Given the description of an element on the screen output the (x, y) to click on. 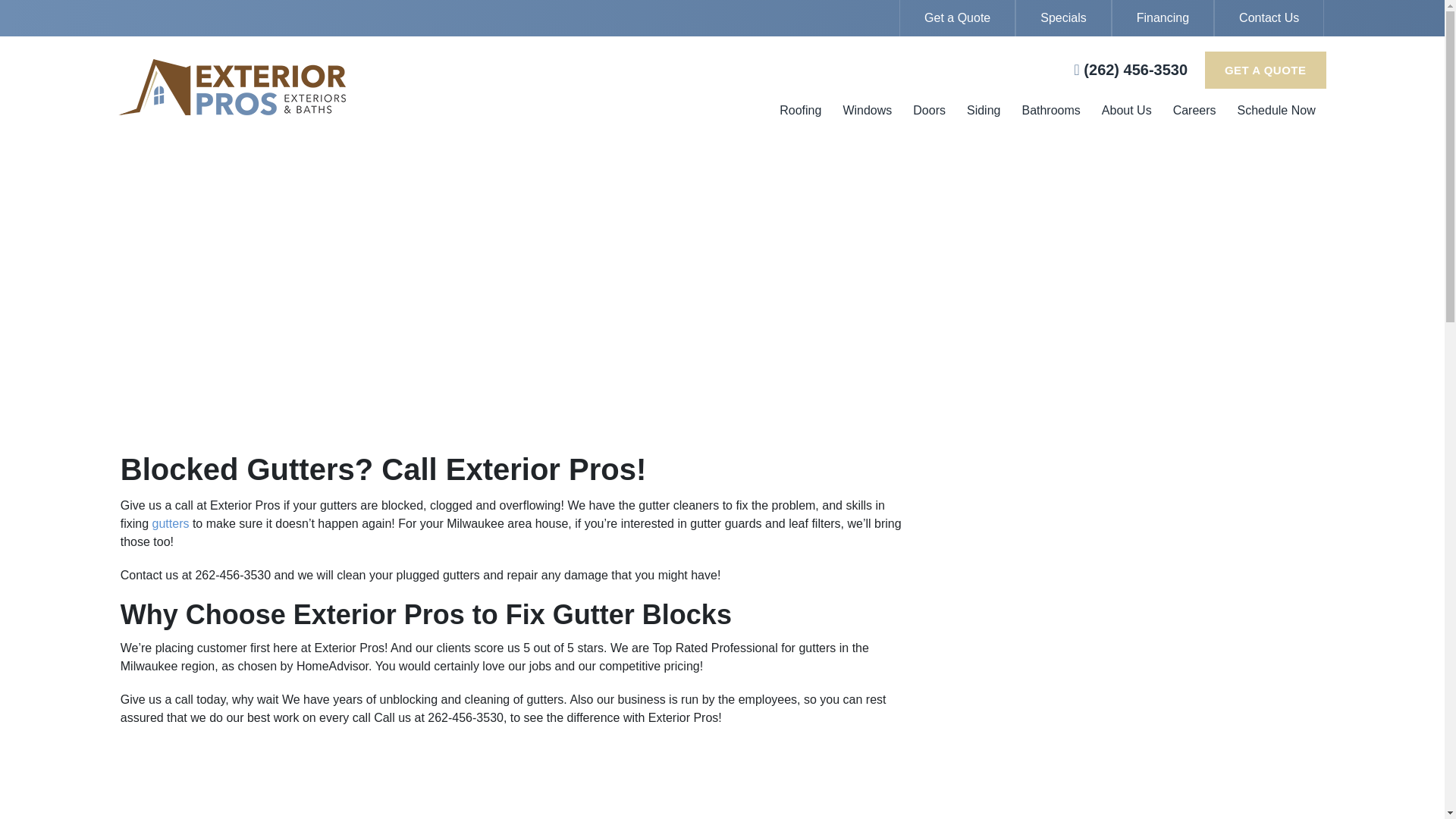
Exterior Pros (319, 86)
Specials (1062, 18)
Get a Quote (956, 18)
GET A QUOTE (1265, 69)
Roofing (799, 112)
Windows (867, 112)
Financing (1163, 18)
Bathrooms (1051, 112)
Doors (928, 112)
Contact Us (1268, 18)
